Given the description of an element on the screen output the (x, y) to click on. 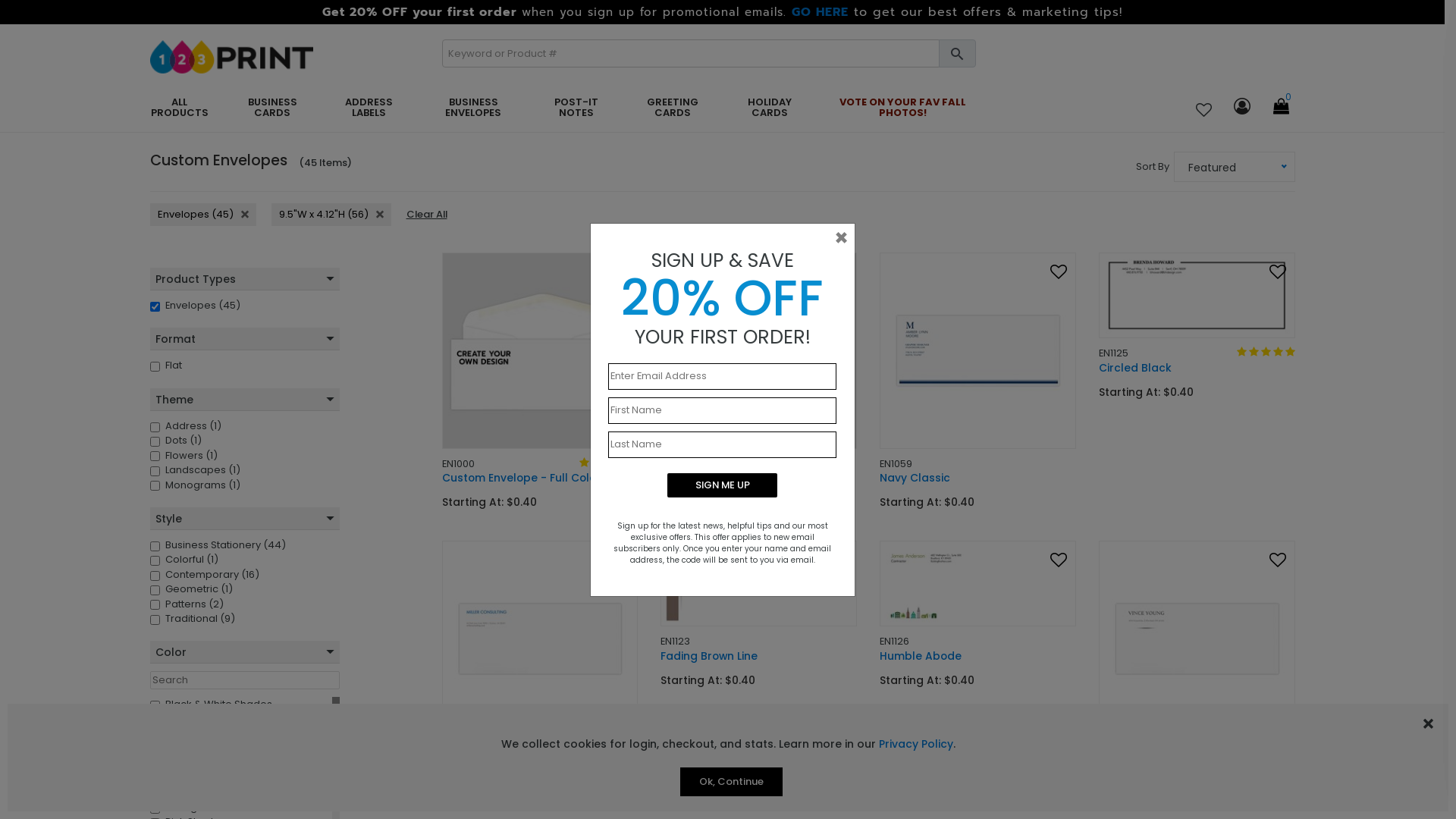
Custom Envelope - Full Color Reviews Element type: hover (608, 463)
SIGN ME UP Element type: text (721, 485)
Navy Classic Element type: text (977, 477)
Underlined Black Element type: hover (1196, 638)
Modern Blue Element type: hover (539, 638)
Fading Brown Line Element type: hover (758, 583)
Fading Brown Line Element type: text (758, 655)
Custom Envelope - Full Color Element type: text (539, 477)
POST-IT NOTES Element type: text (576, 107)
Colored Corporate Icon Envelope Element type: text (758, 477)
VOTE ON YOUR FAV FALL PHOTOS! Element type: text (902, 107)
Colored Corporate Icon Envelope Element type: hover (758, 350)
GREETING CARDS Element type: text (673, 107)
Humble Abode Element type: hover (977, 583)
ALL PRODUCTS Element type: text (180, 107)
Privacy Policy Element type: text (915, 744)
Humble Abode Element type: text (977, 655)
Modern Blue Element type: text (539, 765)
Underlined Black Element type: text (1196, 765)
Account Element type: hover (1241, 107)
Circled Black Element type: hover (1196, 295)
HOLIDAY CARDS Element type: text (768, 107)
Custom Envelope - Full Color Element type: hover (539, 350)
ADDRESS LABELS Element type: text (368, 107)
Ok, Continue Element type: text (730, 781)
Circled Black Element type: text (1196, 367)
BUSINESS ENVELOPES Element type: text (472, 107)
Favorites Element type: hover (1203, 110)
GO HERE Element type: text (819, 12)
BUSINESS CARDS Element type: text (272, 107)
0 Element type: text (1279, 107)
Navy Classic Element type: hover (977, 350)
Circled Black Reviews Element type: hover (1265, 352)
